Given the description of an element on the screen output the (x, y) to click on. 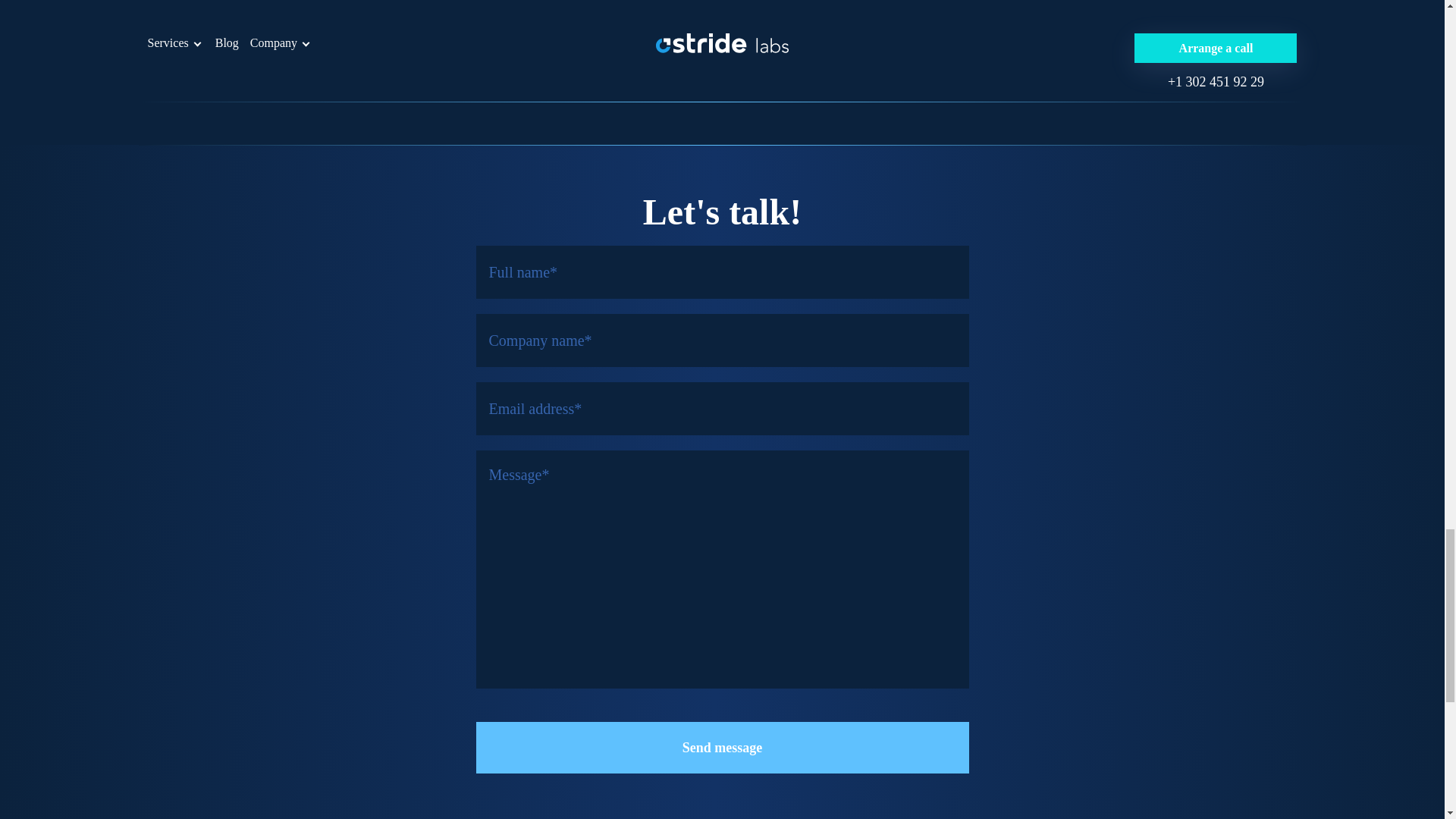
Submit (1105, 77)
Submit (1105, 77)
Send message (722, 747)
Send message (722, 747)
